Given the description of an element on the screen output the (x, y) to click on. 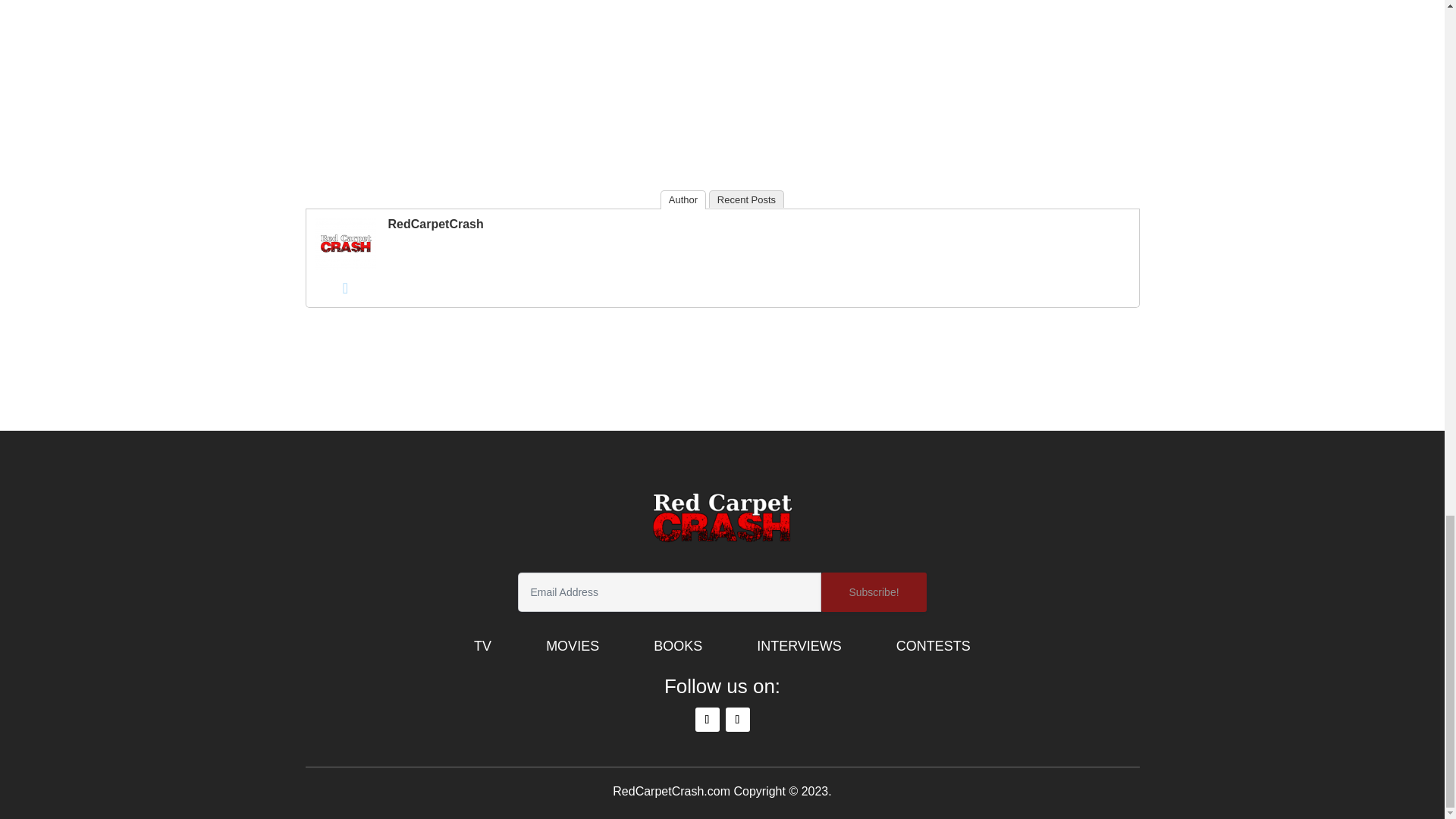
Follow on X (706, 719)
Follow on Facebook (737, 719)
Subscribe! (873, 591)
RedCarpetCrash (345, 265)
logo (722, 520)
Twitter (345, 288)
